Given the description of an element on the screen output the (x, y) to click on. 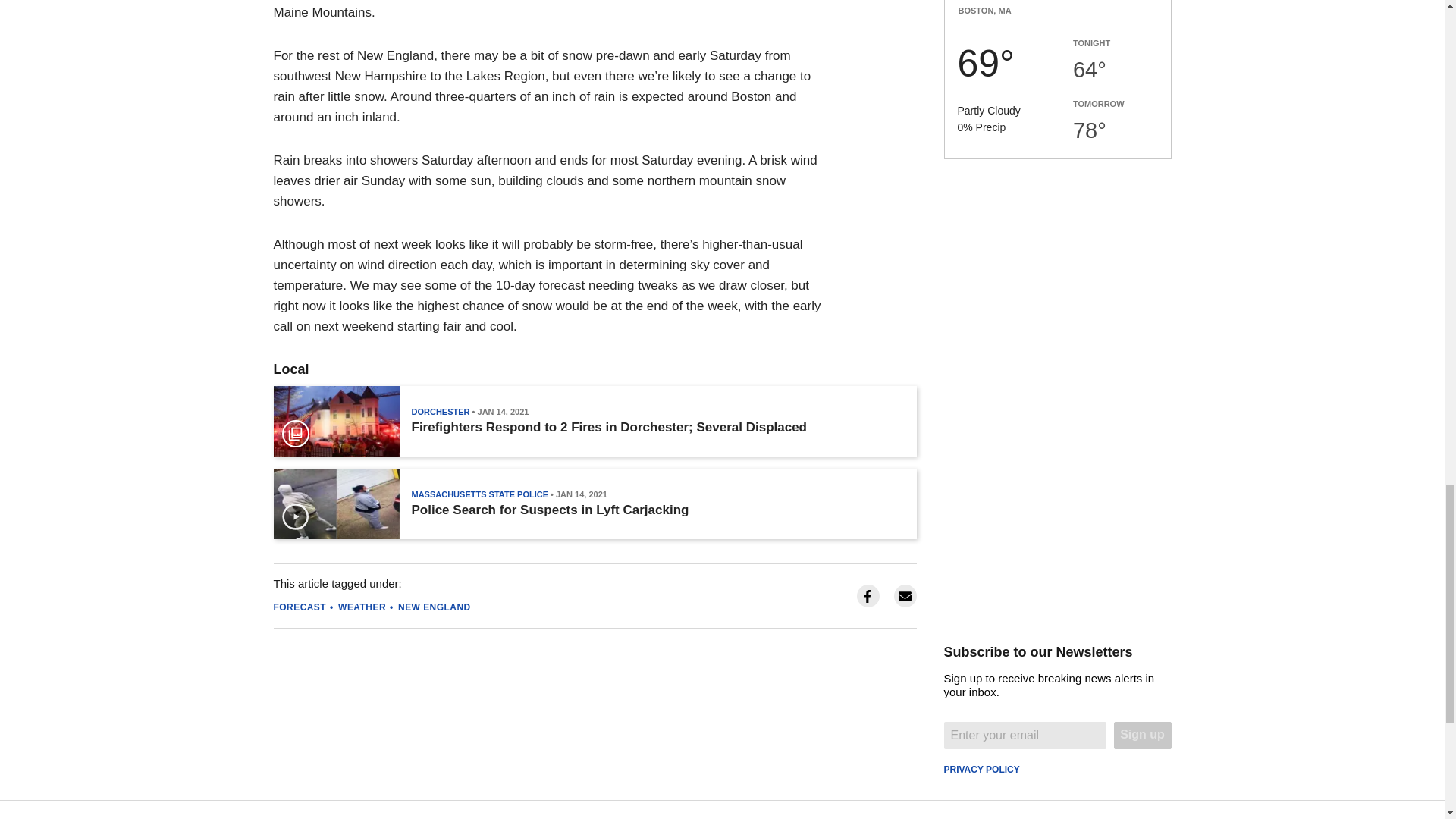
MASSACHUSETTS STATE POLICE (479, 493)
NEW ENGLAND (433, 606)
FORECAST (299, 606)
WEATHER (361, 606)
Police Search for Suspects in Lyft Carjacking (549, 509)
DORCHESTER (439, 411)
